Given the description of an element on the screen output the (x, y) to click on. 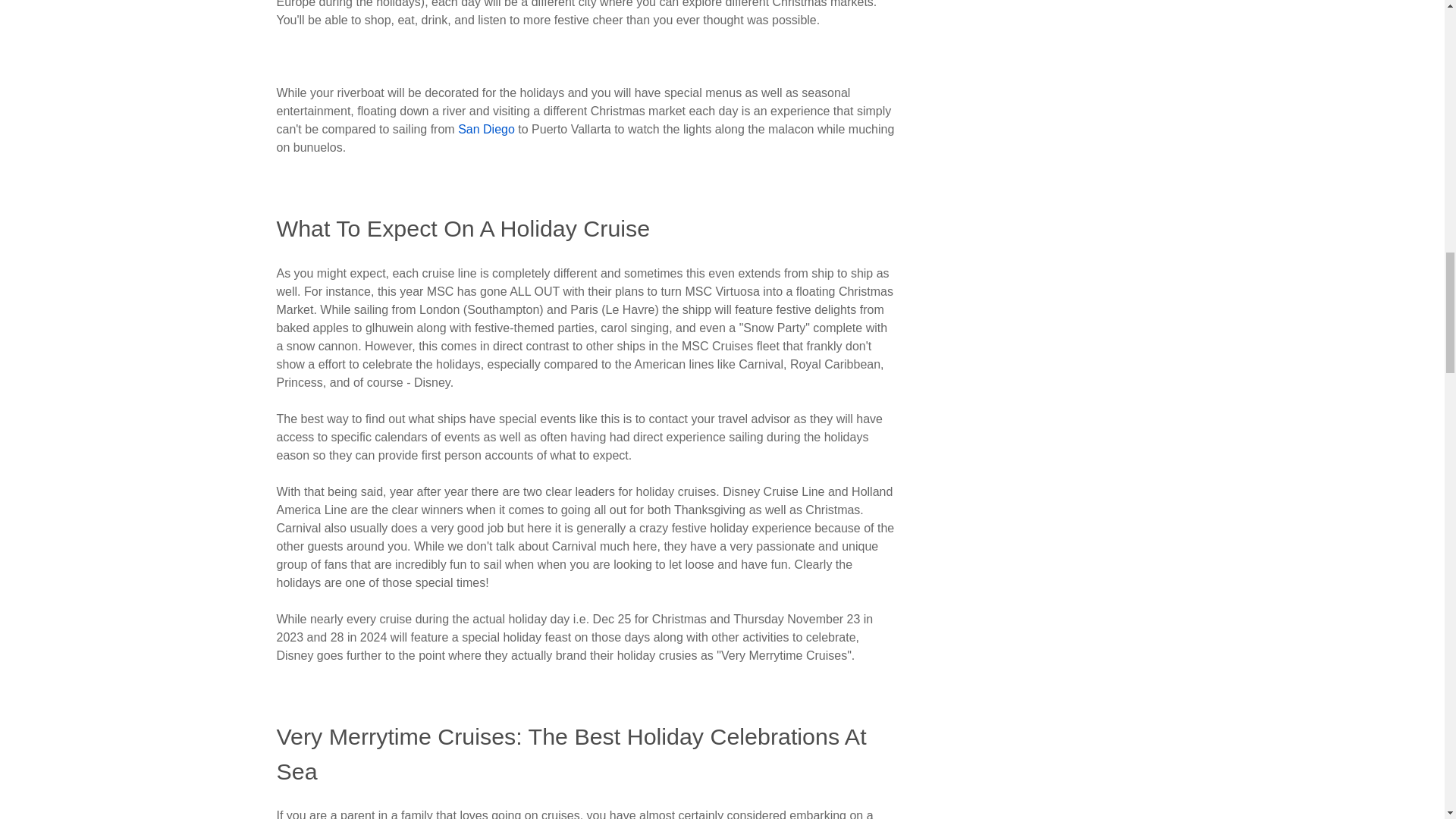
San Diego (486, 128)
